Given the description of an element on the screen output the (x, y) to click on. 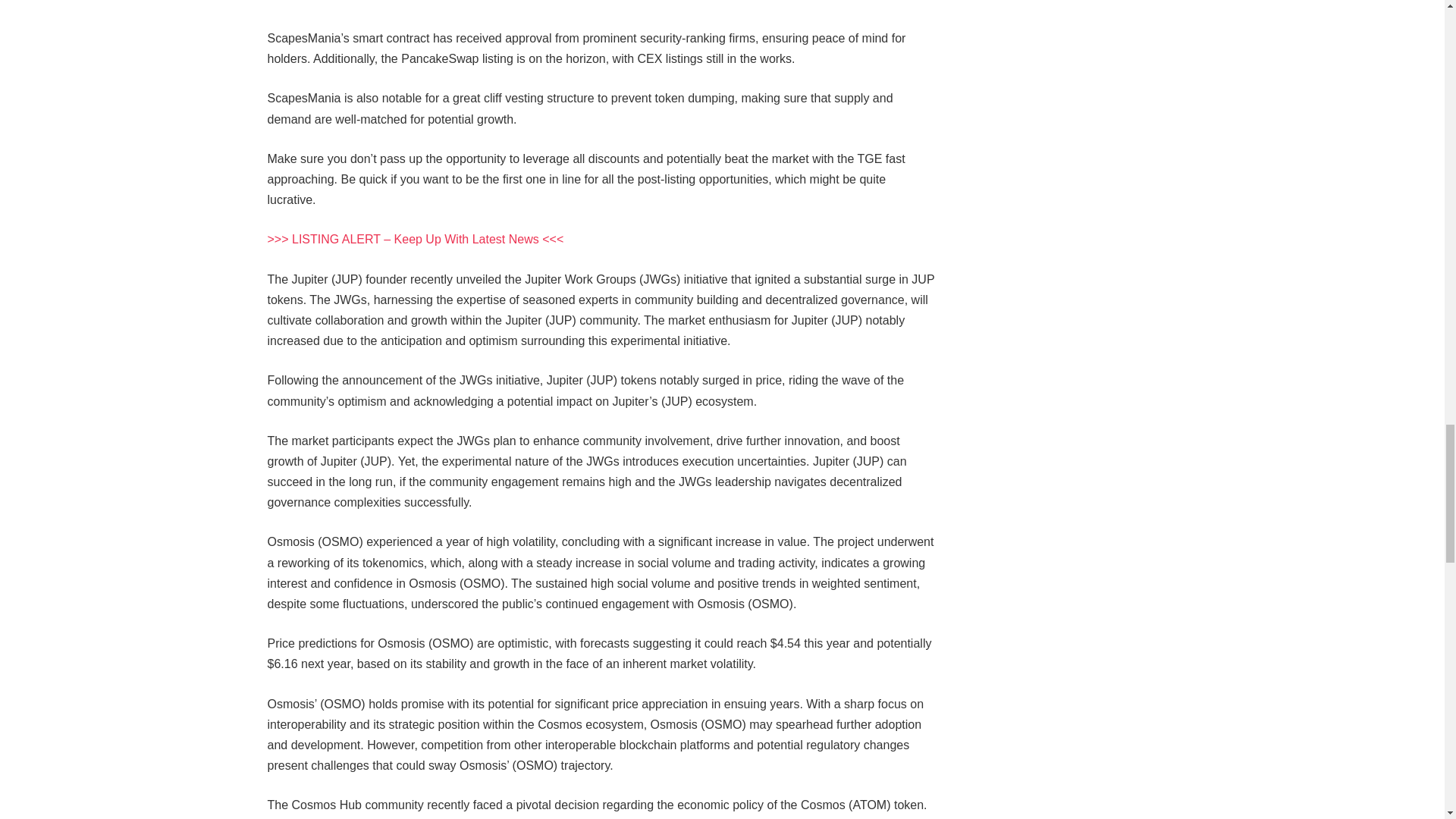
Advertisement (600, 13)
